Given the description of an element on the screen output the (x, y) to click on. 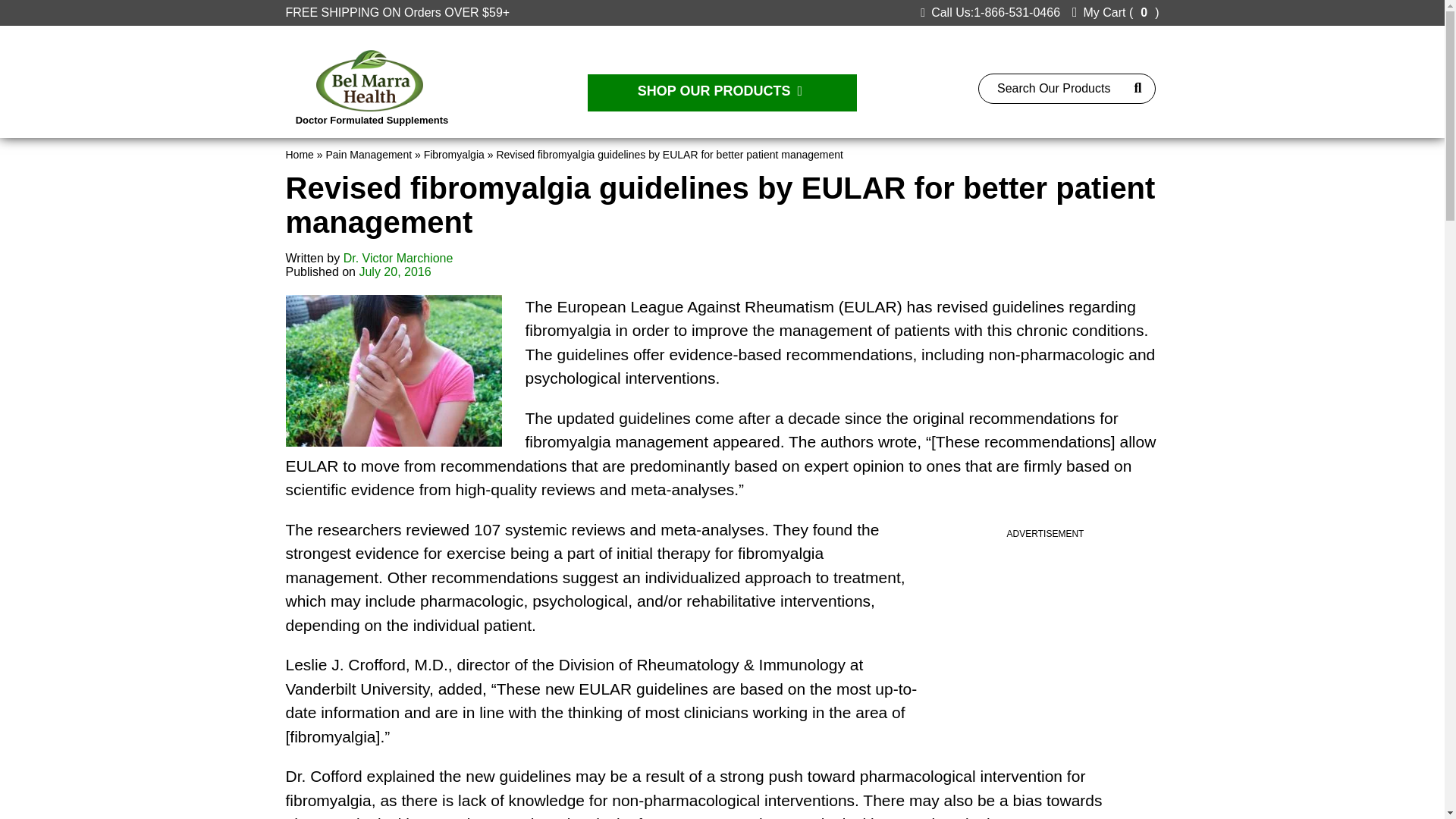
Posts by Dr. Victor Marchione (397, 257)
Call Us:1-866-531-0466 (989, 11)
Skip to the content (50, 6)
SHOP OUR PRODUCTS (721, 92)
